Given the description of an element on the screen output the (x, y) to click on. 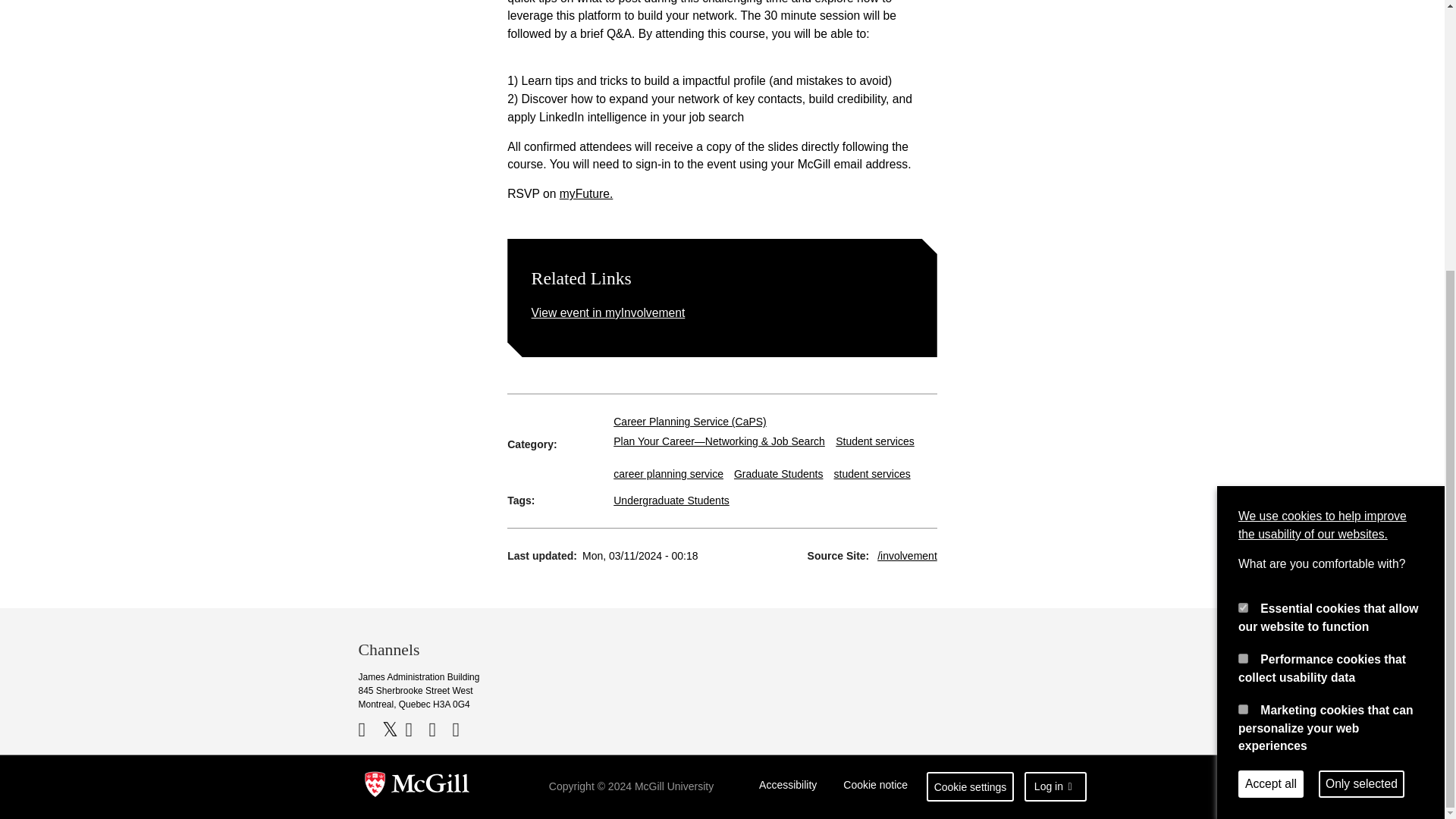
Follow us on Facebook (368, 729)
Follow us on Instagram (461, 729)
career planning service (667, 473)
Accept all (1271, 388)
Facebook (368, 729)
Accessibility (788, 786)
LinkedIn (439, 729)
Cookie notice (875, 786)
required (1243, 212)
YouTube (414, 729)
